Given the description of an element on the screen output the (x, y) to click on. 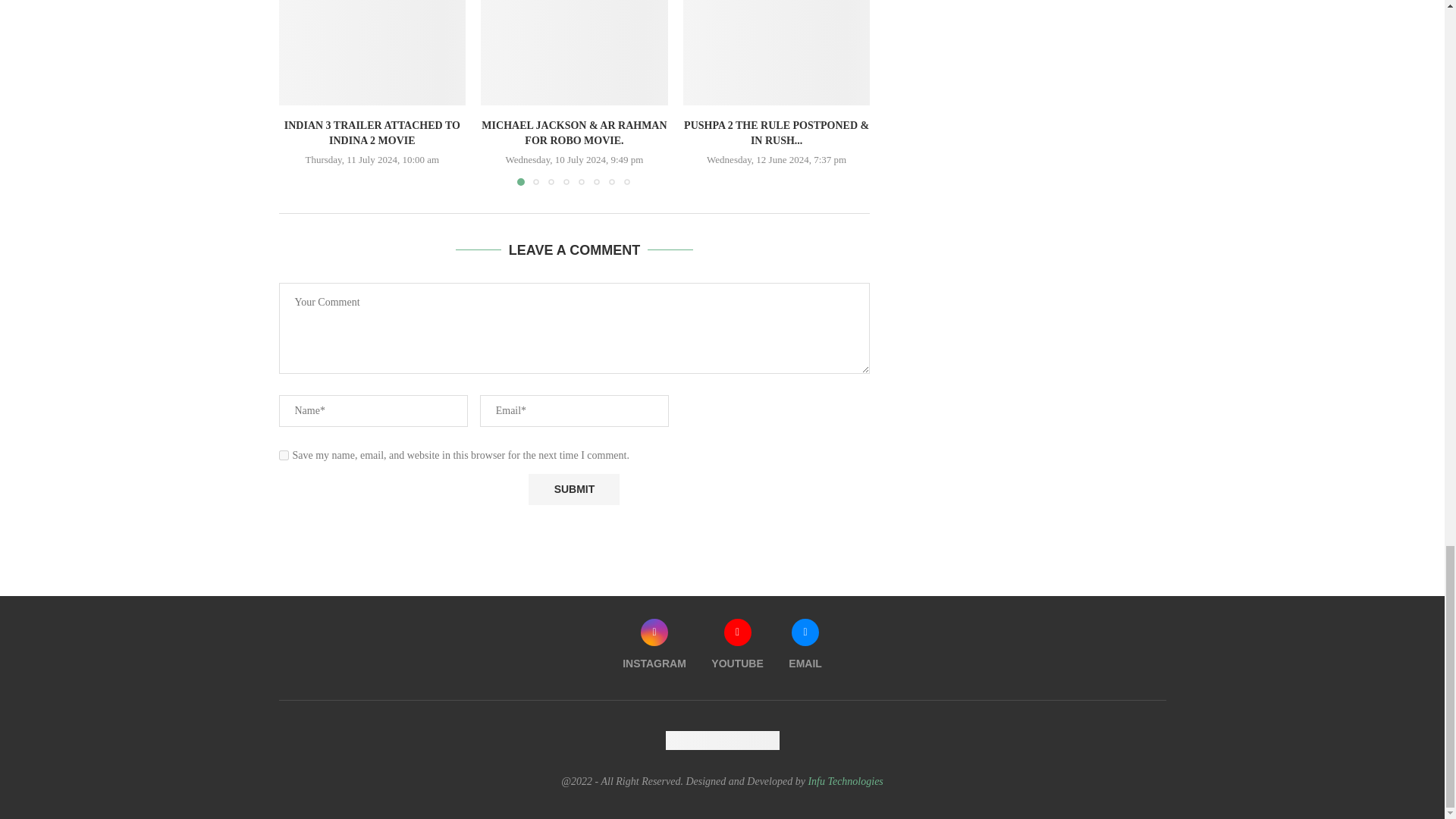
yes (283, 455)
INDIAN 3 TRAILER ATTACHED TO INDINA 2 MOVIE (371, 132)
Indian 3 Trailer Attached to Indina 2 Movie (372, 52)
Submit (574, 489)
